Given the description of an element on the screen output the (x, y) to click on. 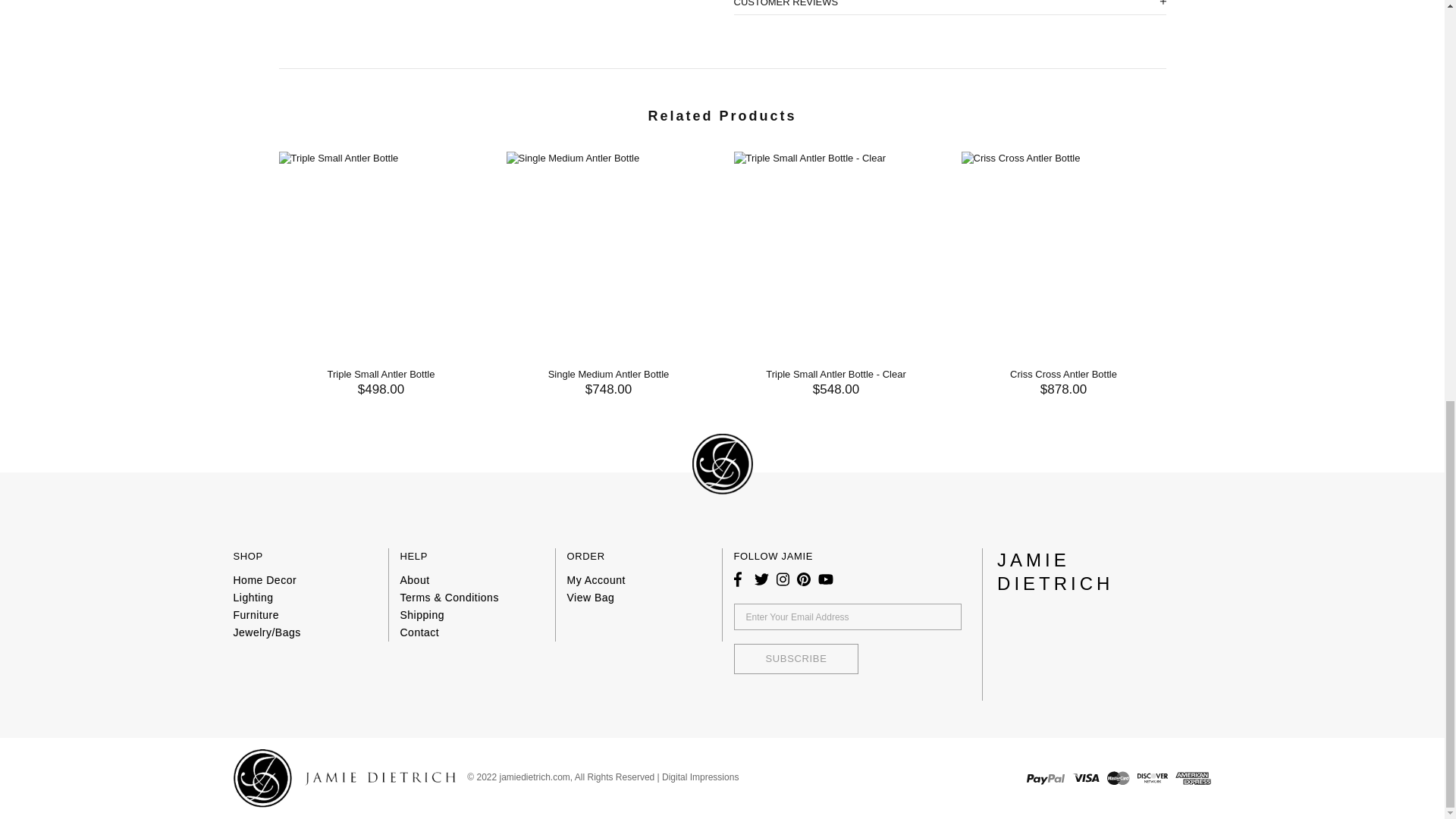
SUBSCRIBE (796, 658)
